Given the description of an element on the screen output the (x, y) to click on. 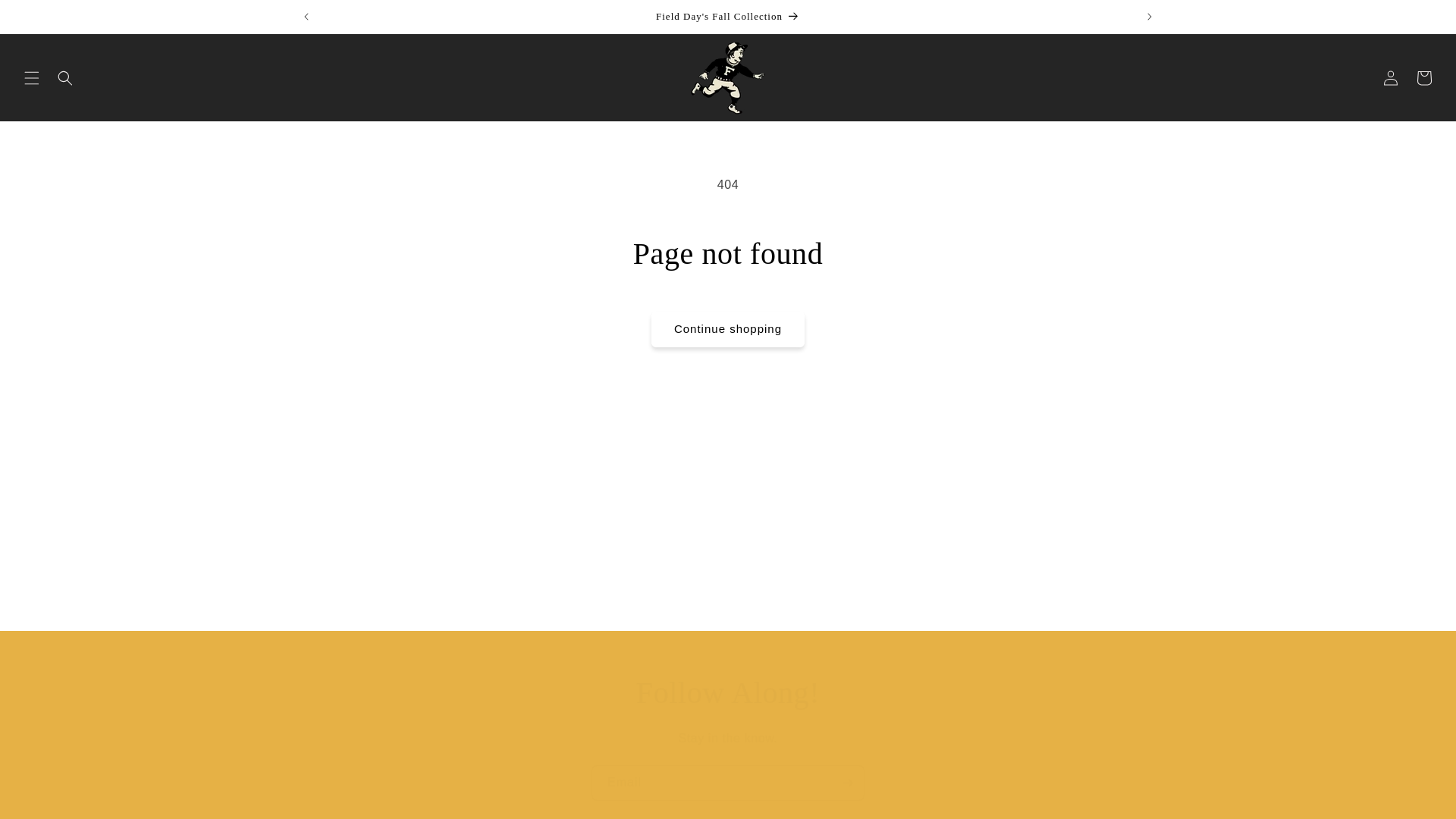
Stay in the know. (727, 739)
Skip to content (45, 17)
Follow Along! (727, 692)
Field Day's Fall Collection (727, 17)
Email (727, 782)
